Given the description of an element on the screen output the (x, y) to click on. 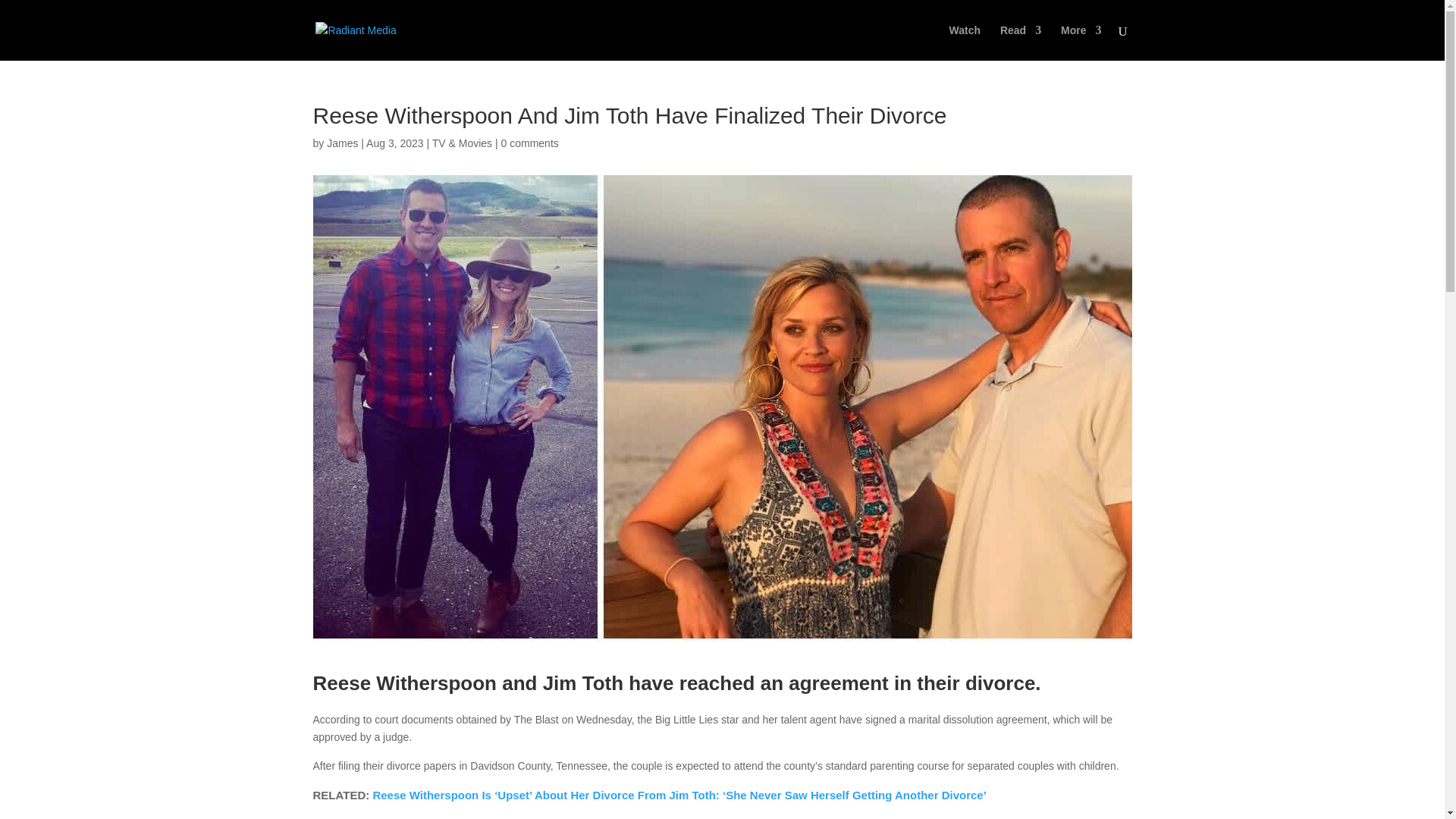
James (342, 143)
More (1080, 42)
Read (1020, 42)
0 comments (529, 143)
Posts by James (342, 143)
